Given the description of an element on the screen output the (x, y) to click on. 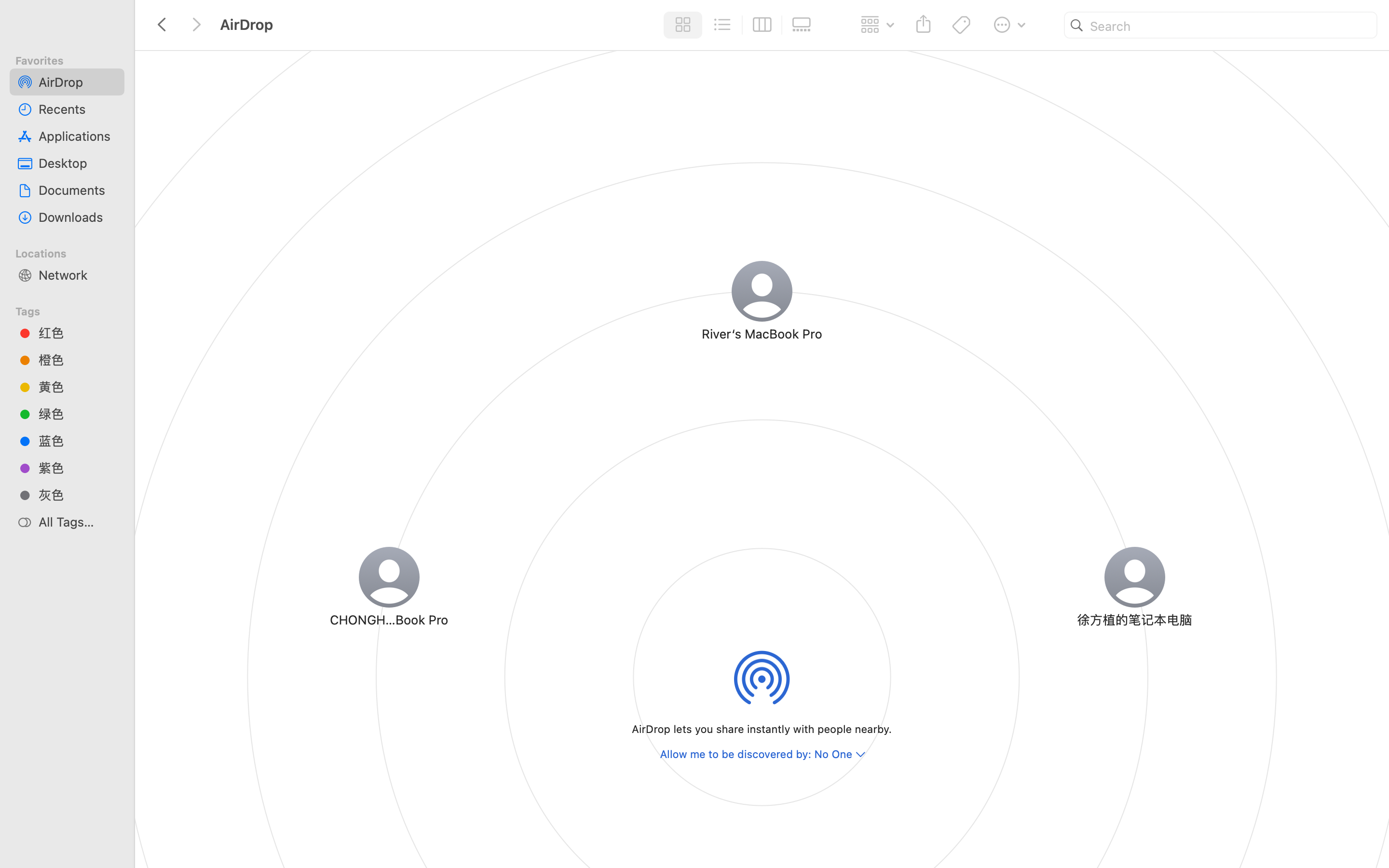
Locations Element type: AXStaticText (72, 252)
Tags Element type: AXStaticText (72, 309)
Recents Element type: AXStaticText (77, 108)
Desktop Element type: AXStaticText (77, 162)
红色 Element type: AXStaticText (77, 332)
